Given the description of an element on the screen output the (x, y) to click on. 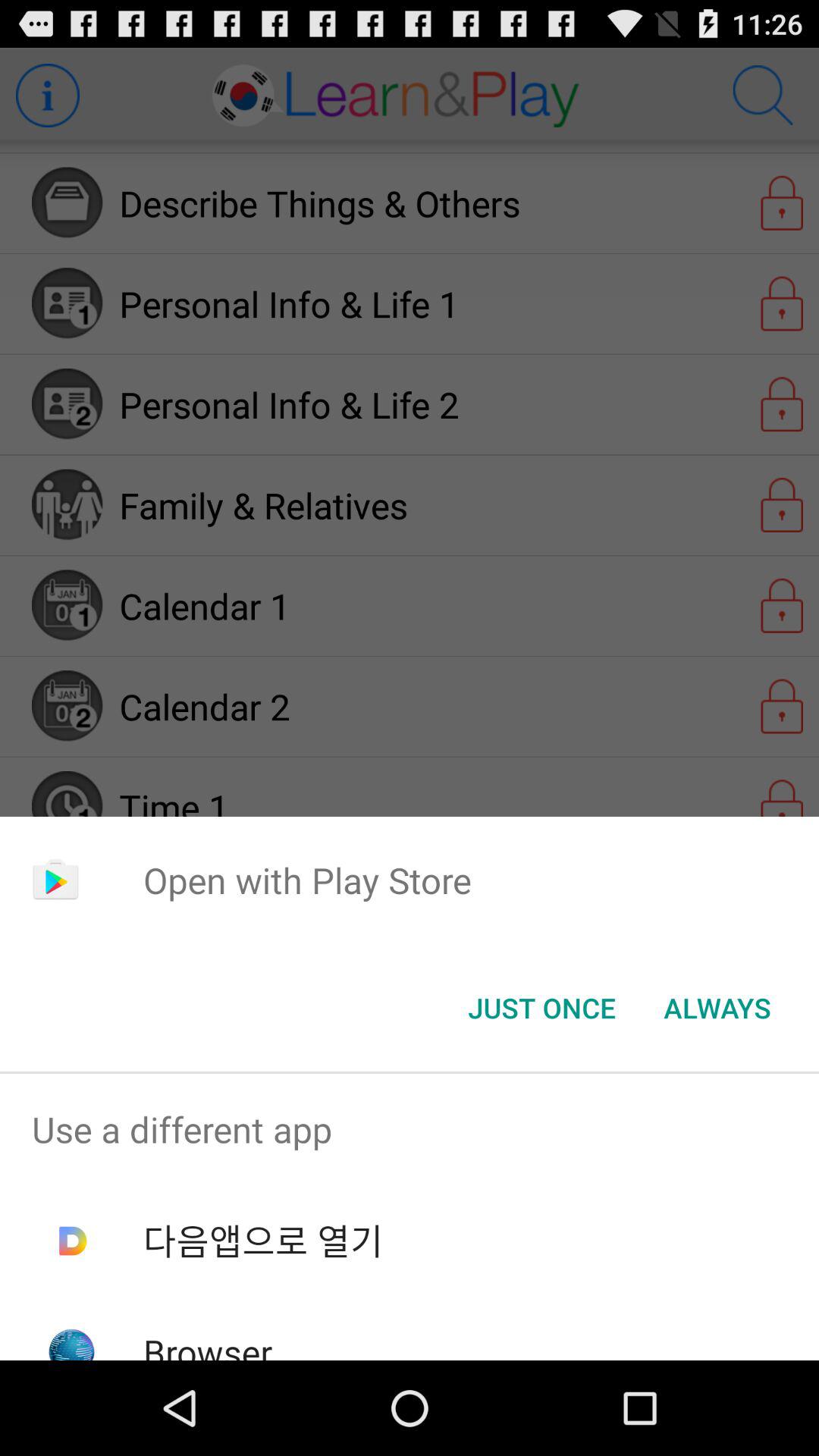
turn off always button (717, 1007)
